Given the description of an element on the screen output the (x, y) to click on. 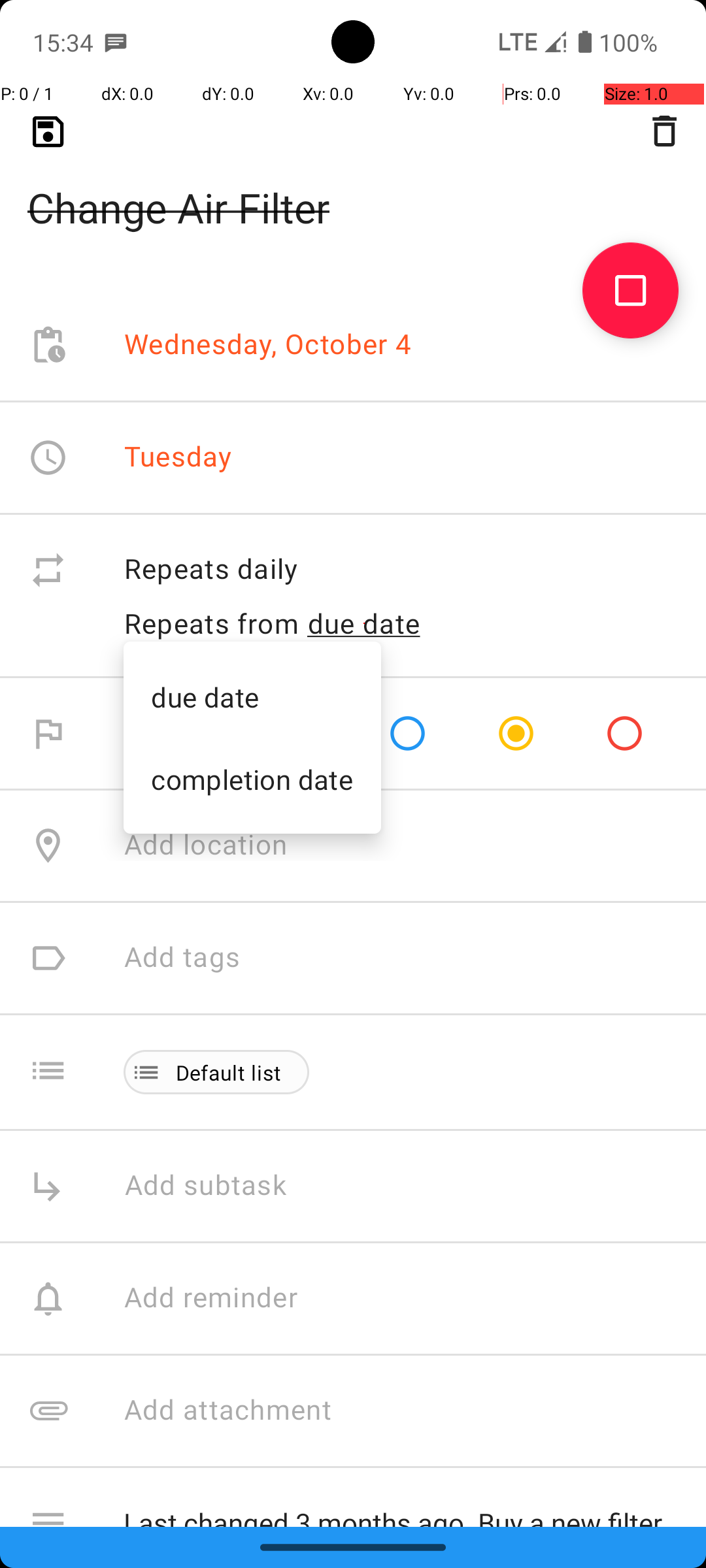
due date Element type: android.widget.TextView (205, 696)
completion date Element type: android.widget.TextView (252, 778)
